Given the description of an element on the screen output the (x, y) to click on. 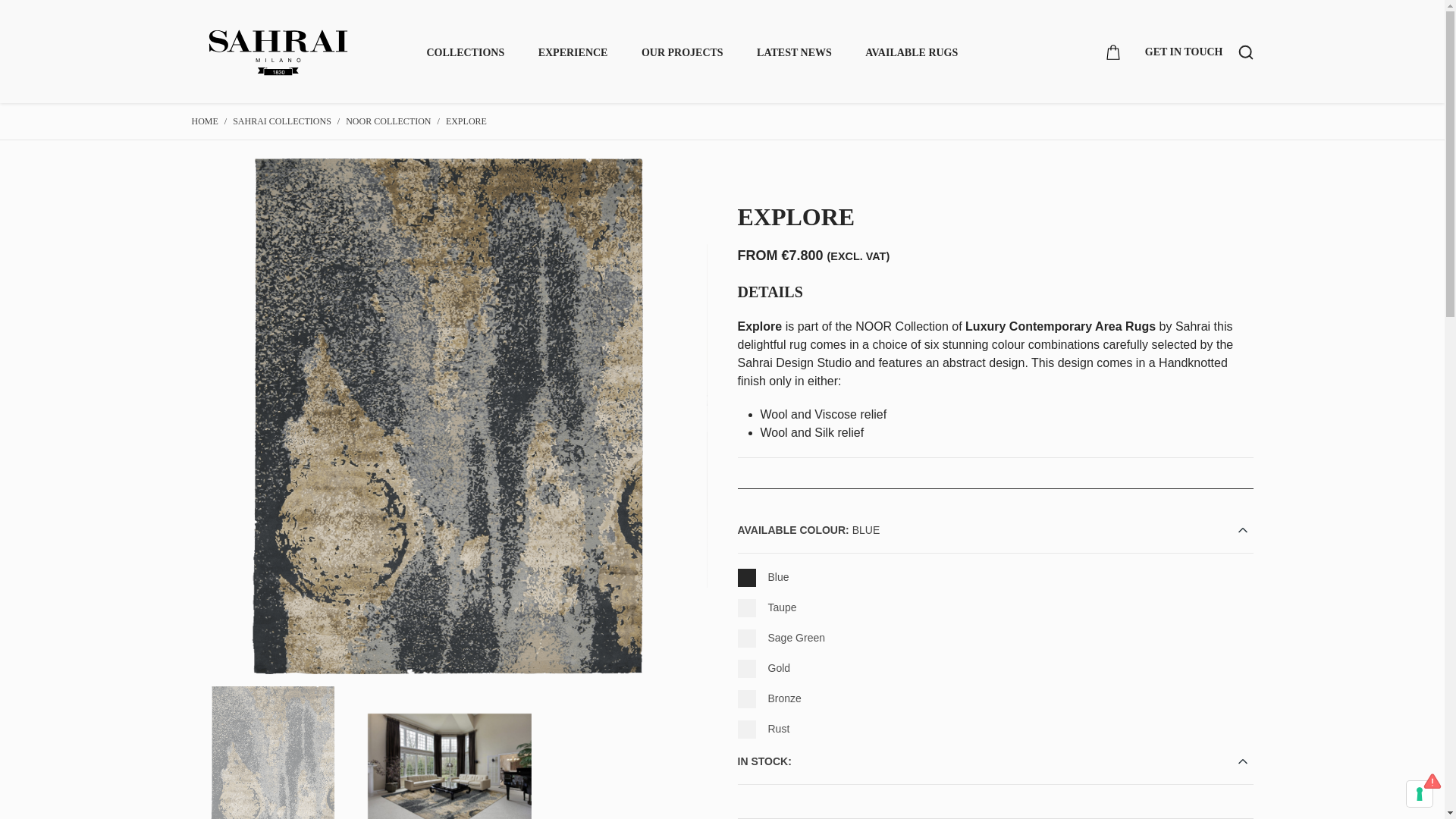
COLLECTIONS (464, 52)
OUR PROJECTS (682, 52)
EXPERIENCE (573, 52)
LATEST NEWS (794, 52)
AVAILABLE RUGS (911, 52)
GET IN TOUCH (1183, 52)
